Given the description of an element on the screen output the (x, y) to click on. 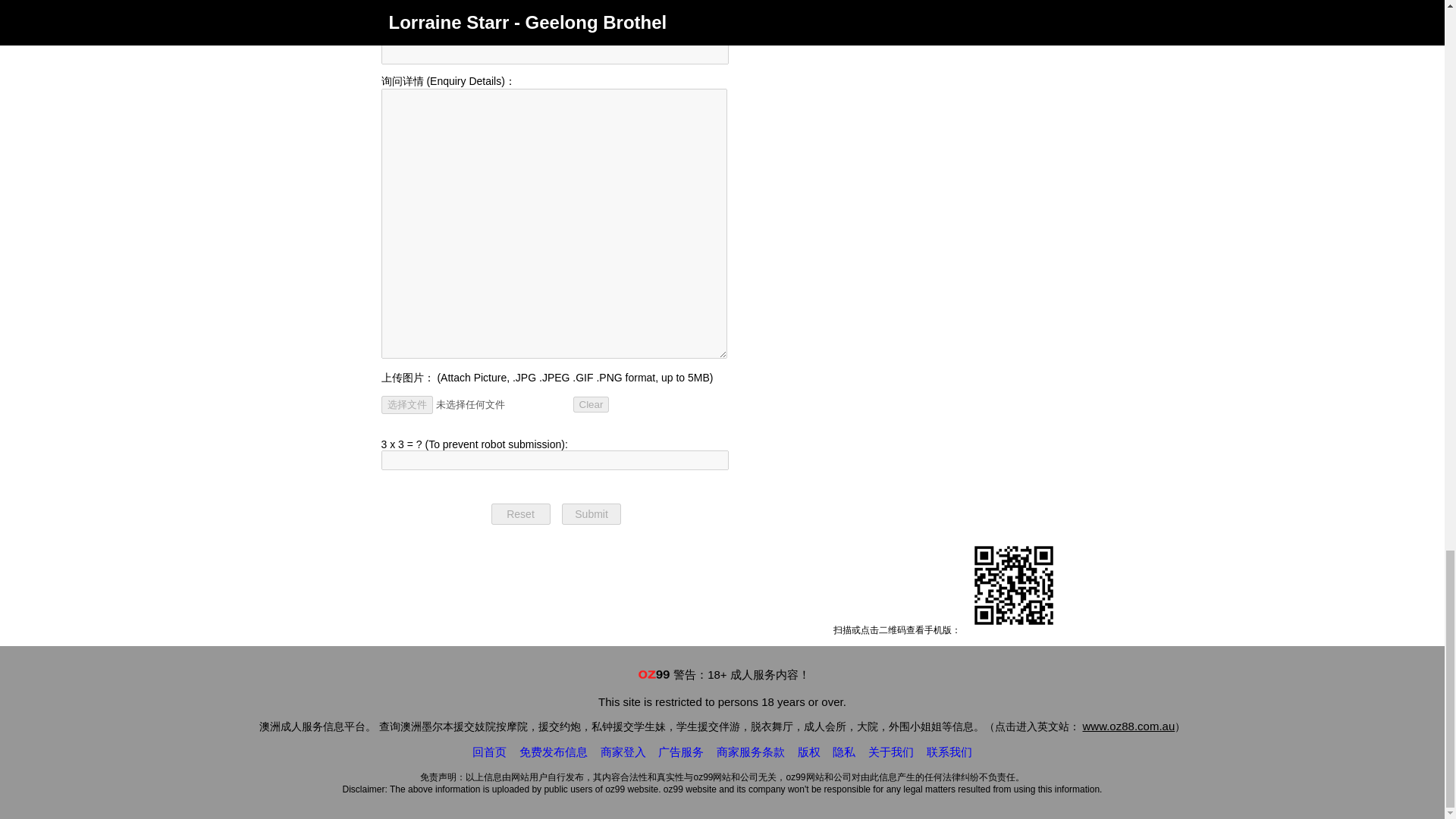
Submit (591, 513)
Clear (591, 404)
Submit (591, 513)
www.oz88.com.au (1128, 725)
Reset (521, 513)
